Given the description of an element on the screen output the (x, y) to click on. 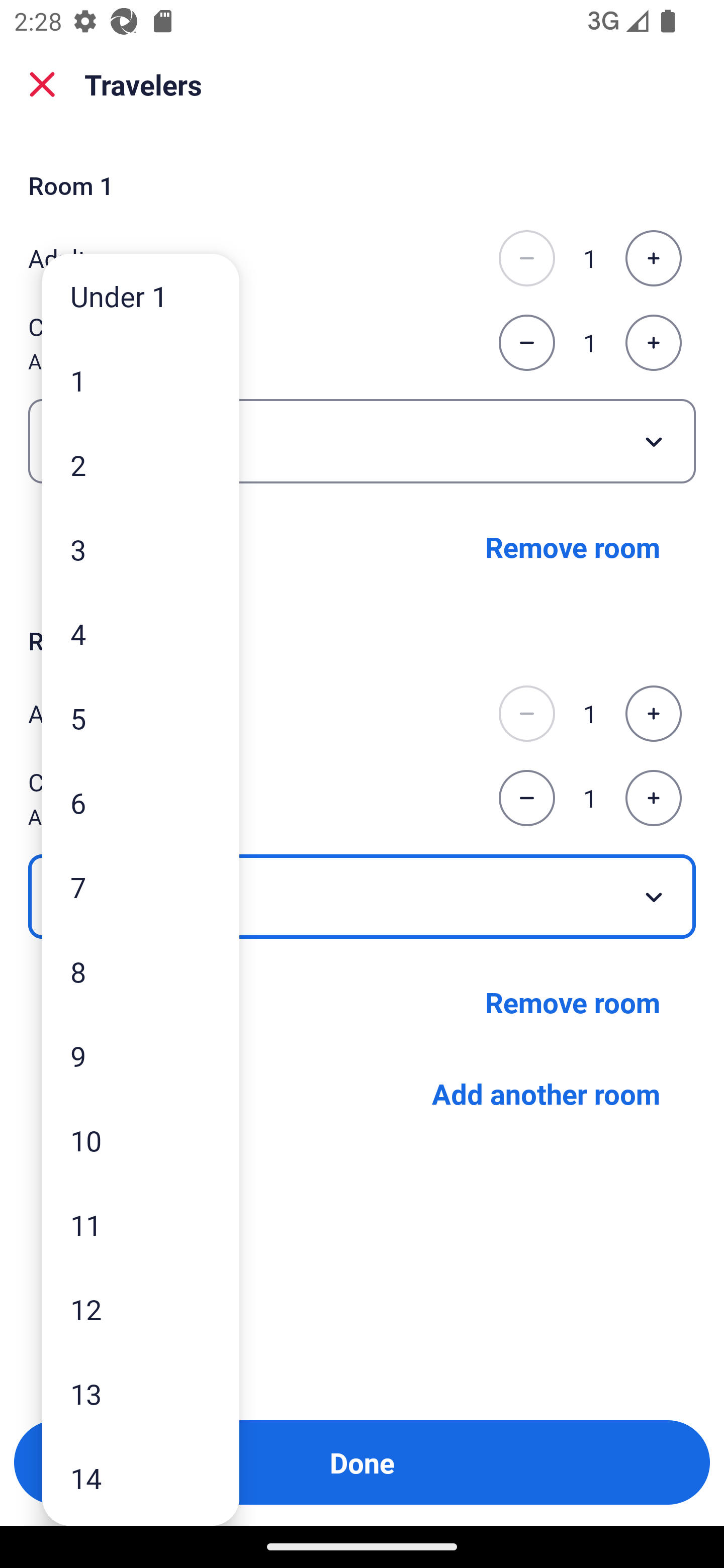
Under 1 (140, 296)
1 (140, 380)
2 (140, 464)
3 (140, 548)
4 (140, 633)
5 (140, 717)
6 (140, 802)
7 (140, 887)
8 (140, 970)
9 (140, 1054)
10 (140, 1139)
11 (140, 1224)
12 (140, 1308)
13 (140, 1393)
14 (140, 1478)
